Given the description of an element on the screen output the (x, y) to click on. 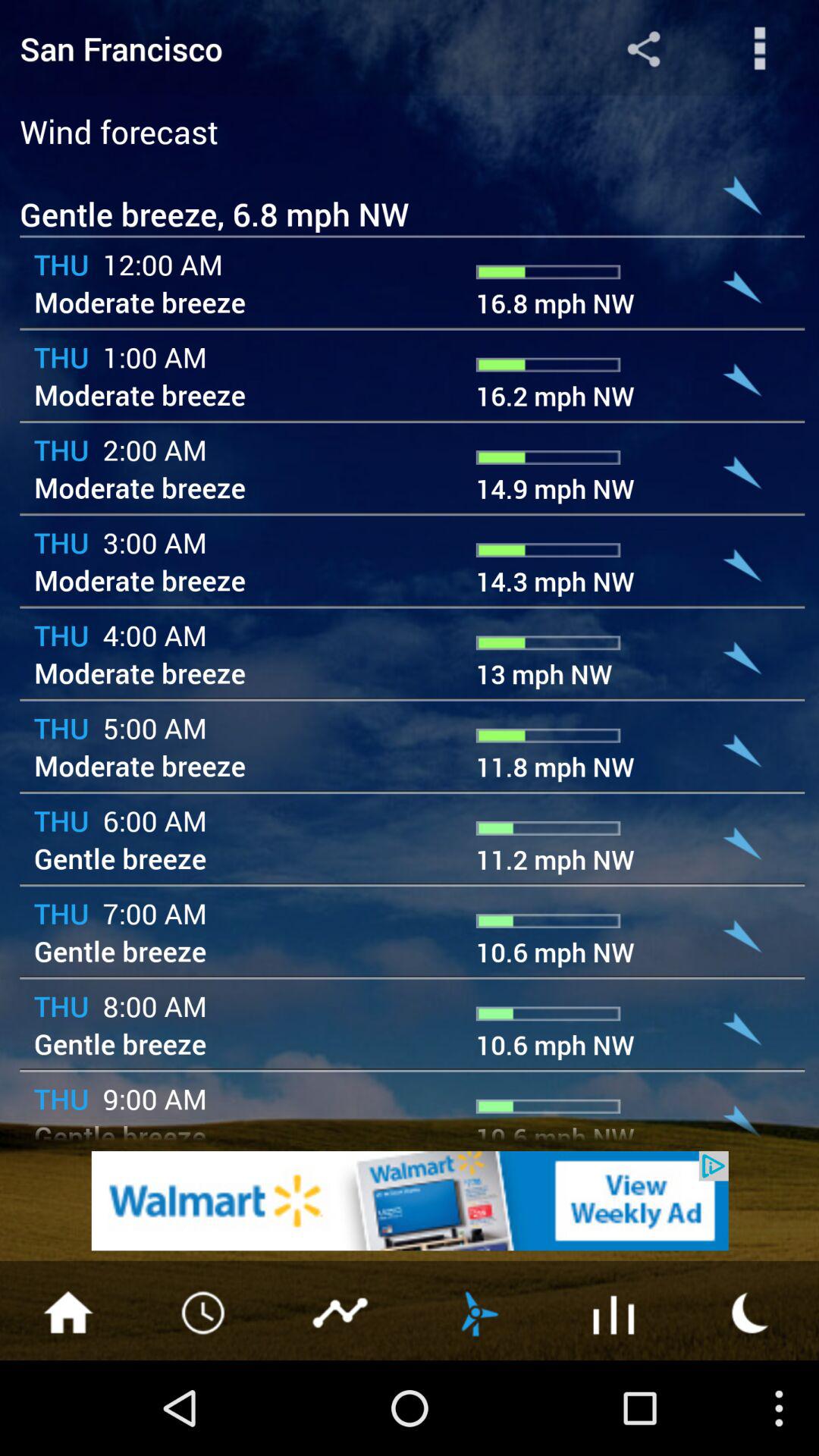
go to home option (68, 1311)
